Given the description of an element on the screen output the (x, y) to click on. 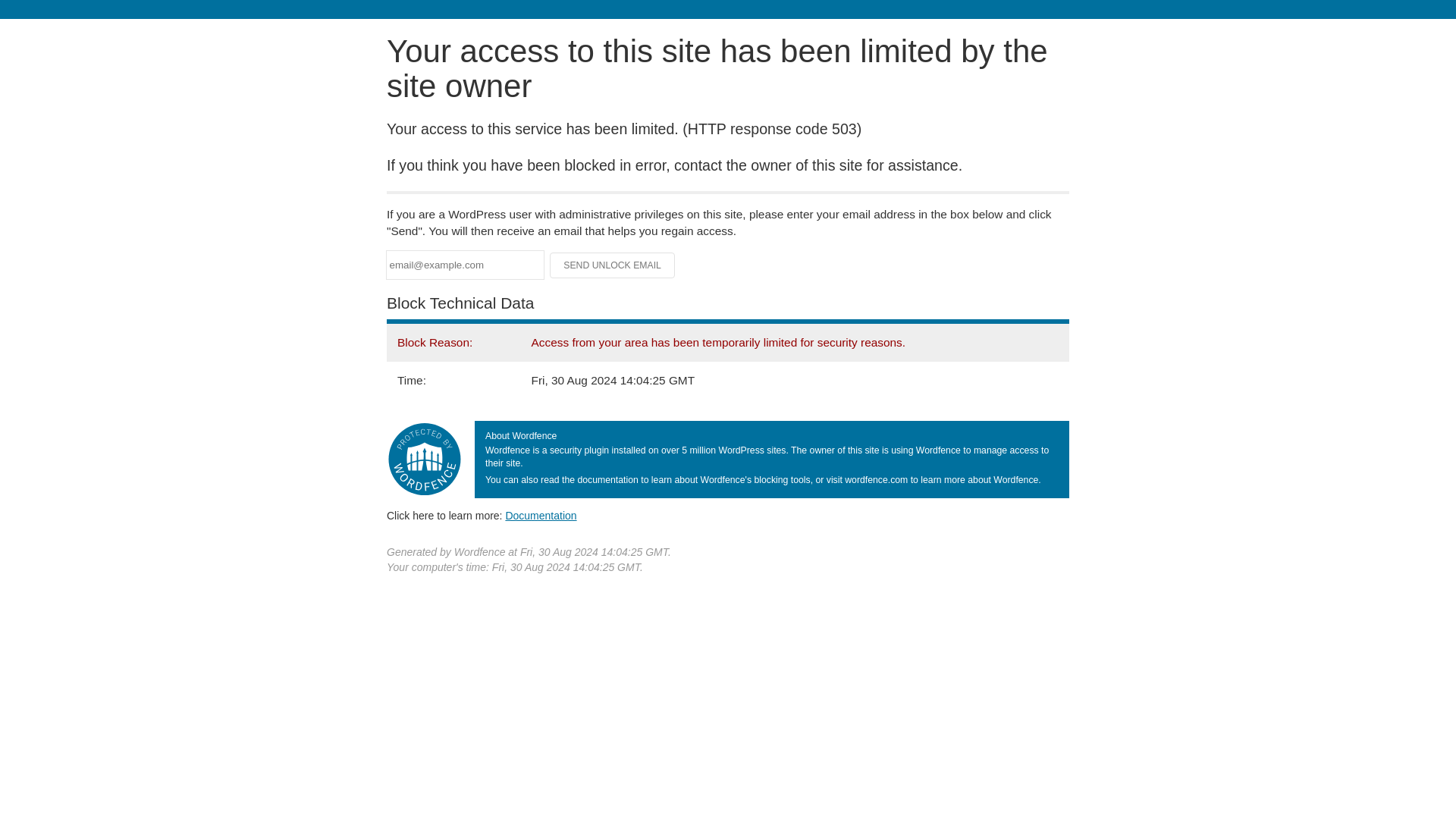
Send Unlock Email (612, 265)
Documentation (540, 515)
Send Unlock Email (612, 265)
